Given the description of an element on the screen output the (x, y) to click on. 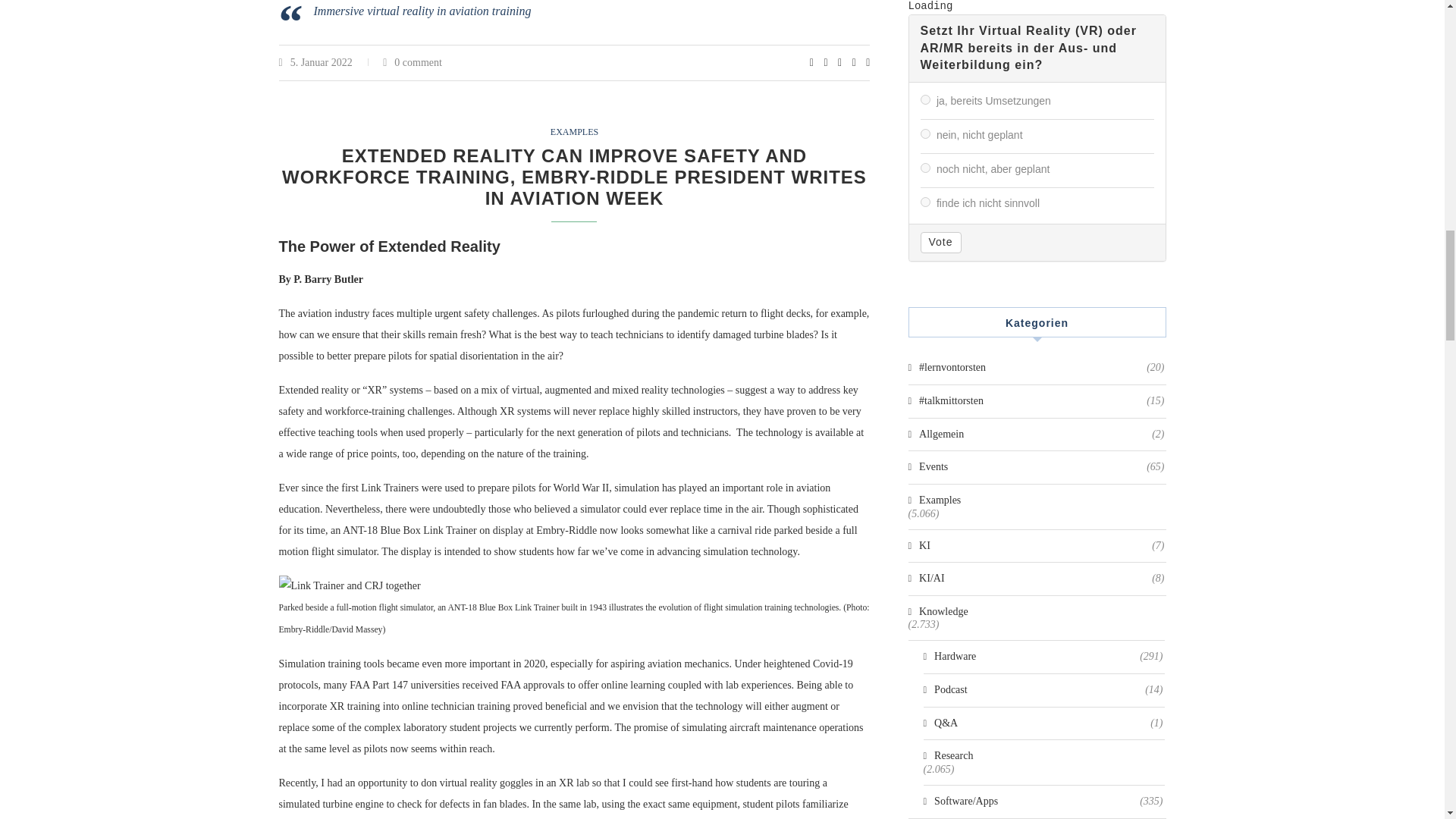
53 (925, 99)
56 (925, 202)
54 (925, 133)
55 (925, 167)
